Given the description of an element on the screen output the (x, y) to click on. 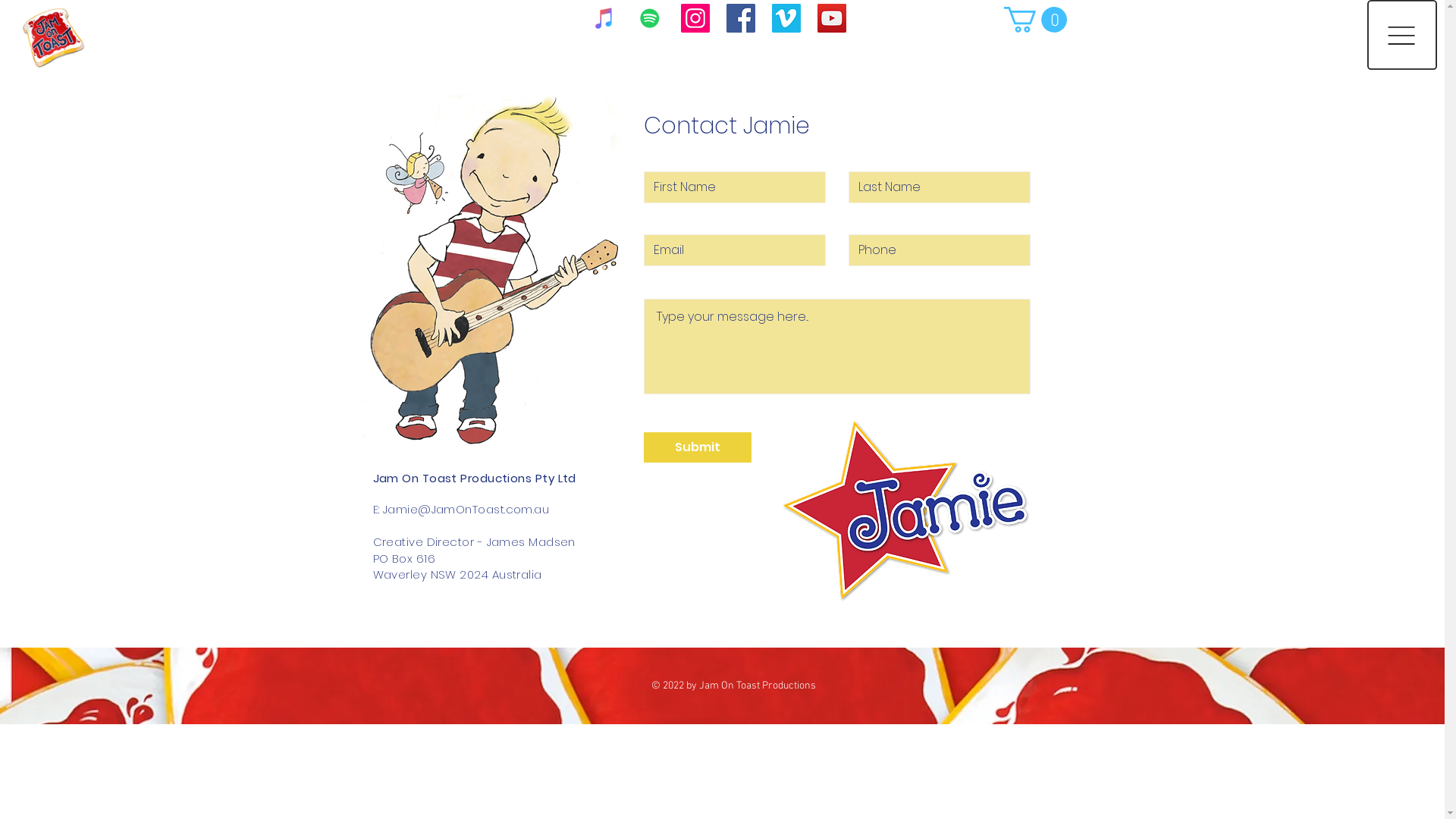
Jamie@JamOnToast.com.au Element type: text (465, 509)
0 Element type: text (1035, 19)
JOT logo white background_edited.png Element type: hover (43, 27)
Submit Element type: text (696, 447)
